Given the description of an element on the screen output the (x, y) to click on. 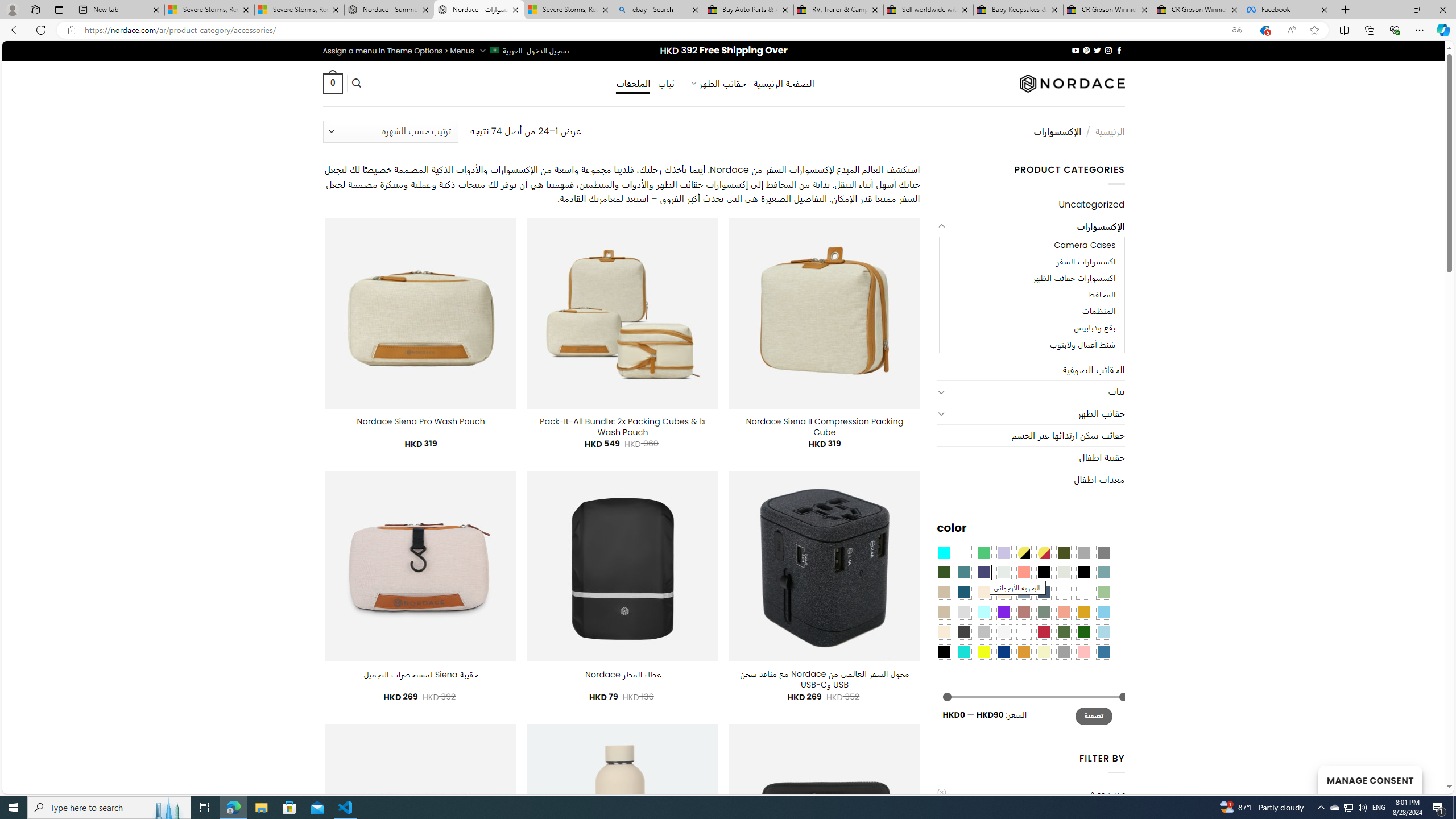
Pack-It-All Bundle: 2x Packing Cubes & 1x Wash Pouch (621, 427)
Purple (1003, 611)
Sage (1043, 611)
